Given the description of an element on the screen output the (x, y) to click on. 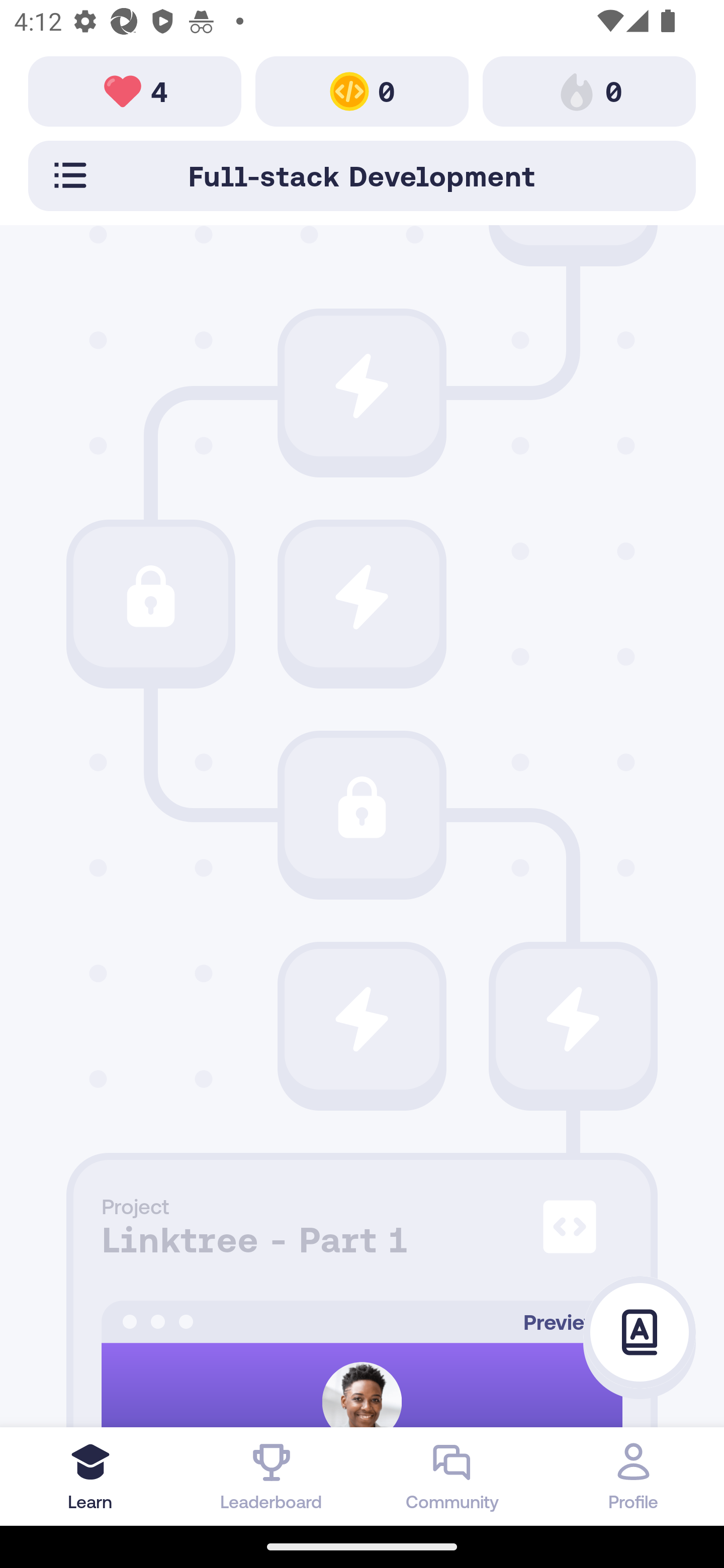
Path Toolbar Image 4 (134, 90)
Path Toolbar Image 0 (361, 90)
Path Toolbar Image 0 (588, 90)
Path Toolbar Selector Full-stack Development (361, 175)
Path Icon (361, 385)
Path Icon (150, 596)
Path Icon (361, 596)
Path Icon (361, 808)
Path Icon (361, 1018)
Path Icon (572, 1018)
Glossary Icon (639, 1332)
Leaderboard (271, 1475)
Community (452, 1475)
Profile (633, 1475)
